Given the description of an element on the screen output the (x, y) to click on. 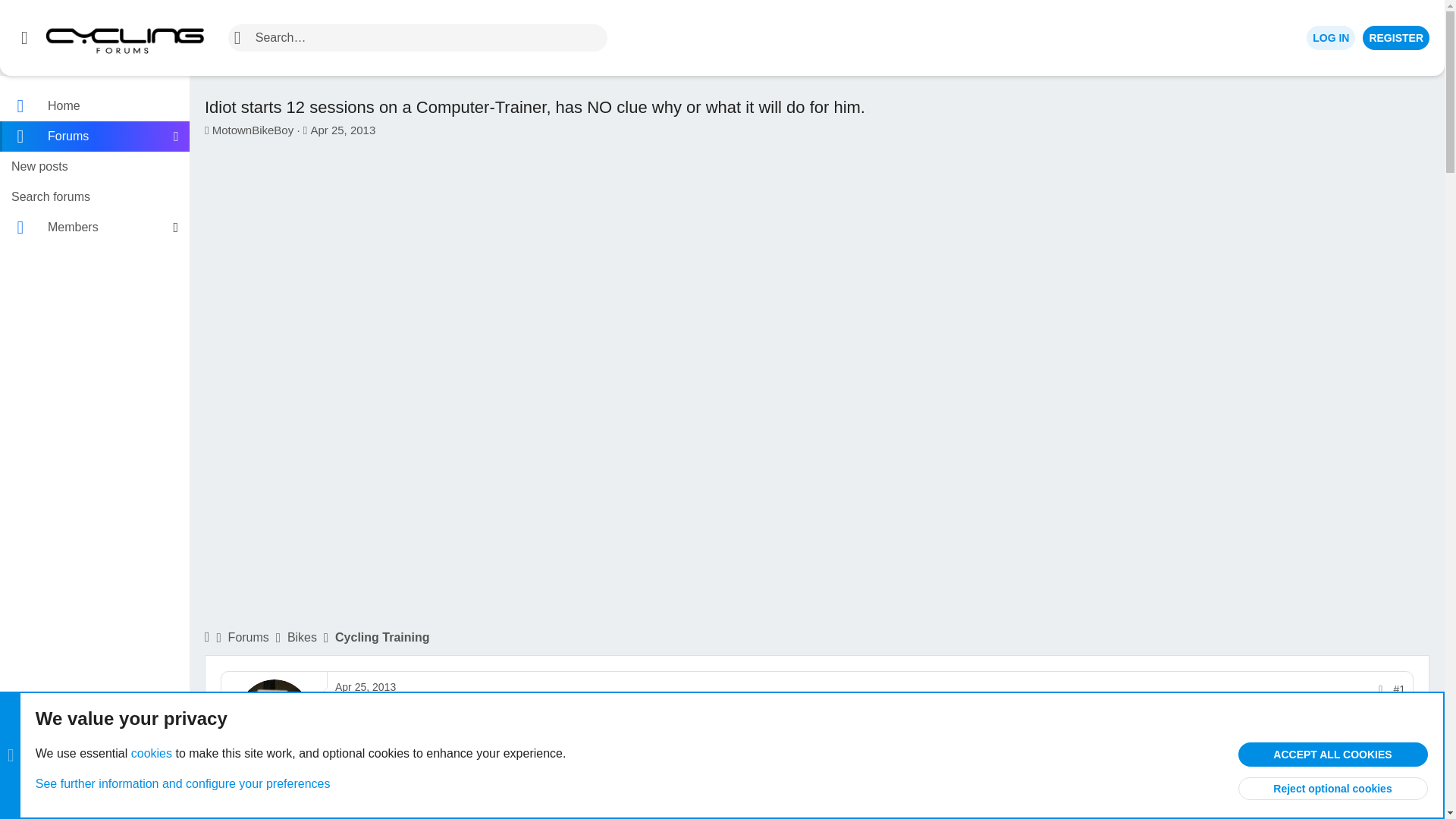
Bikes (301, 637)
Cycling Training (381, 637)
New posts (93, 166)
Home (94, 105)
Apr 25, 2013 at 2:09 PM (365, 686)
Forums (86, 136)
MotownBikeBoy (253, 129)
Members (86, 227)
Apr 25, 2013 at 2:09 PM (342, 129)
Apr 25, 2013 (342, 129)
LOG IN (1330, 37)
Forums (106, 170)
REGISTER (248, 637)
